Given the description of an element on the screen output the (x, y) to click on. 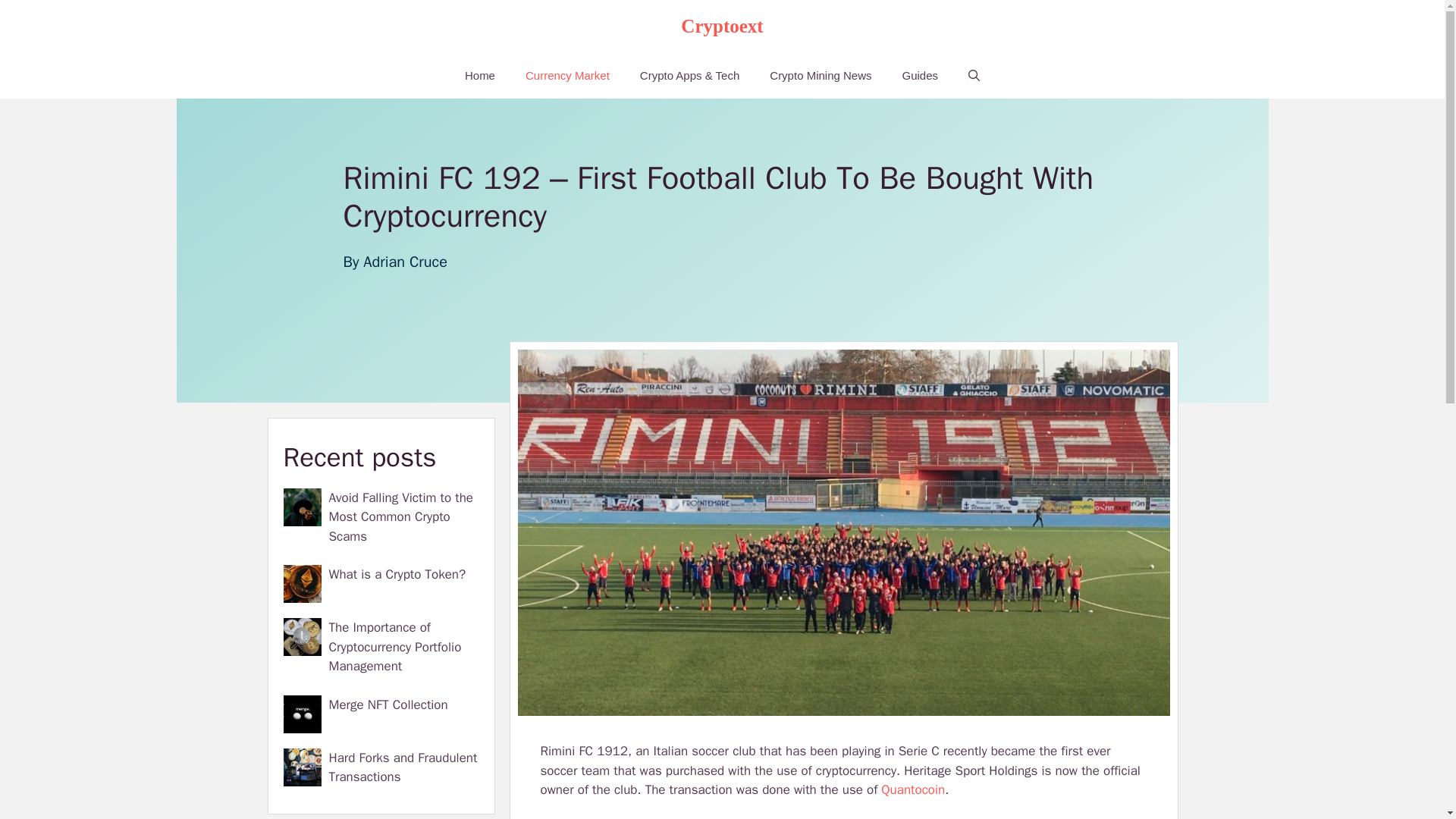
Quantocoin (912, 789)
Guides (919, 75)
Crypto Mining News (820, 75)
Home (480, 75)
Currency Market (567, 75)
The Importance of Cryptocurrency Portfolio Management (395, 646)
Avoid Falling Victim to the Most Common Crypto Scams (401, 516)
What is a Crypto Token? (397, 574)
Merge NFT Collection (388, 704)
Adrian Cruce (404, 261)
Cryptoext (721, 25)
Hard Forks and Fraudulent Transactions (403, 767)
